Given the description of an element on the screen output the (x, y) to click on. 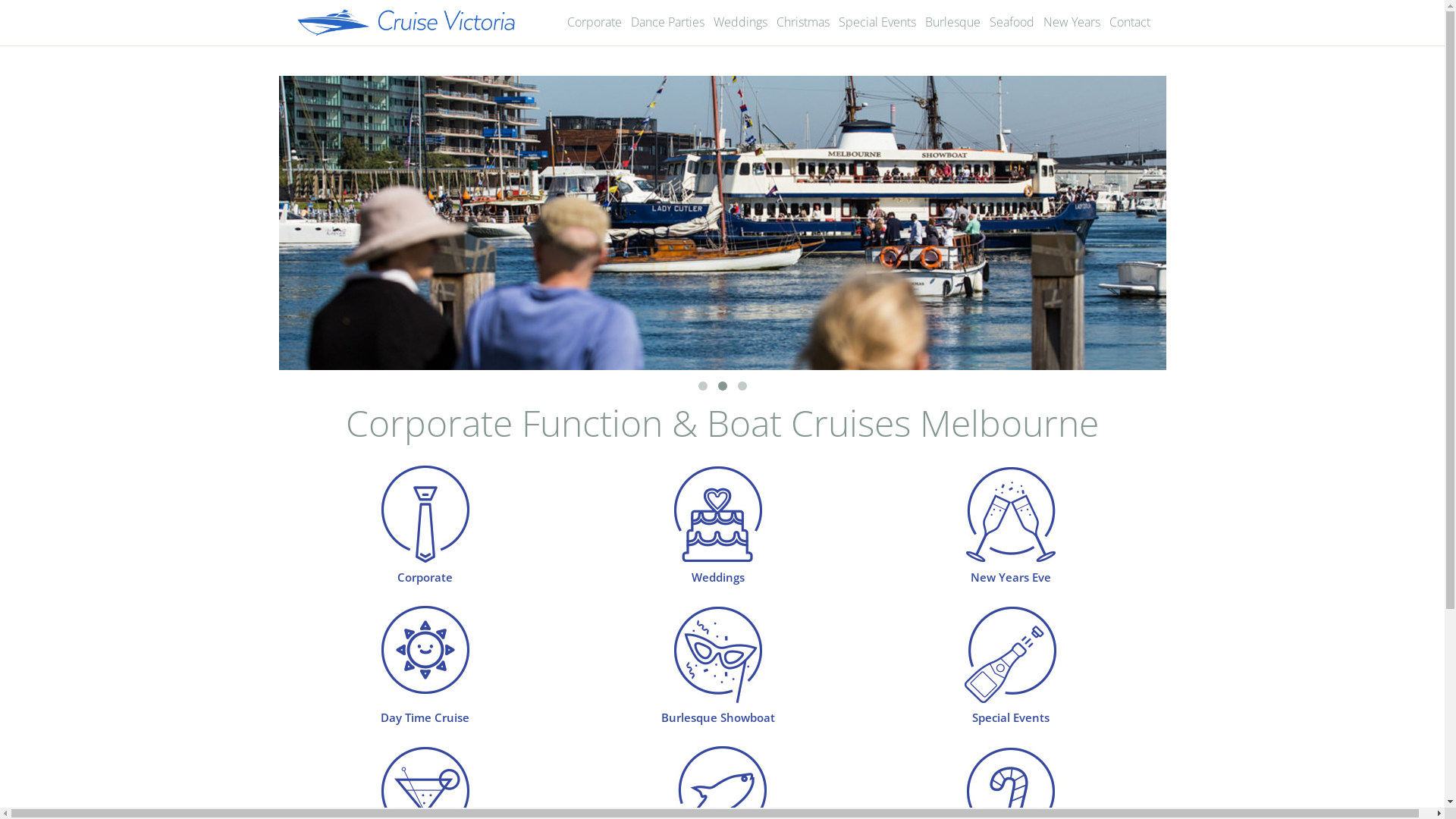
Special Events Element type: text (877, 21)
Corporate Element type: text (594, 21)
New Years Element type: text (1071, 21)
Corporate Element type: text (424, 543)
Burlesque Element type: text (952, 21)
Contact Element type: text (1129, 21)
Weddings Element type: text (717, 543)
Seafood Element type: text (1011, 21)
Day Time Cruise Element type: text (424, 684)
Special Events Element type: text (1010, 684)
New Years Eve Element type: text (1010, 543)
Christmas Element type: text (802, 21)
Burlesque Showboat Element type: text (717, 684)
Dance Parties Element type: text (667, 21)
Weddings Element type: text (739, 21)
